Given the description of an element on the screen output the (x, y) to click on. 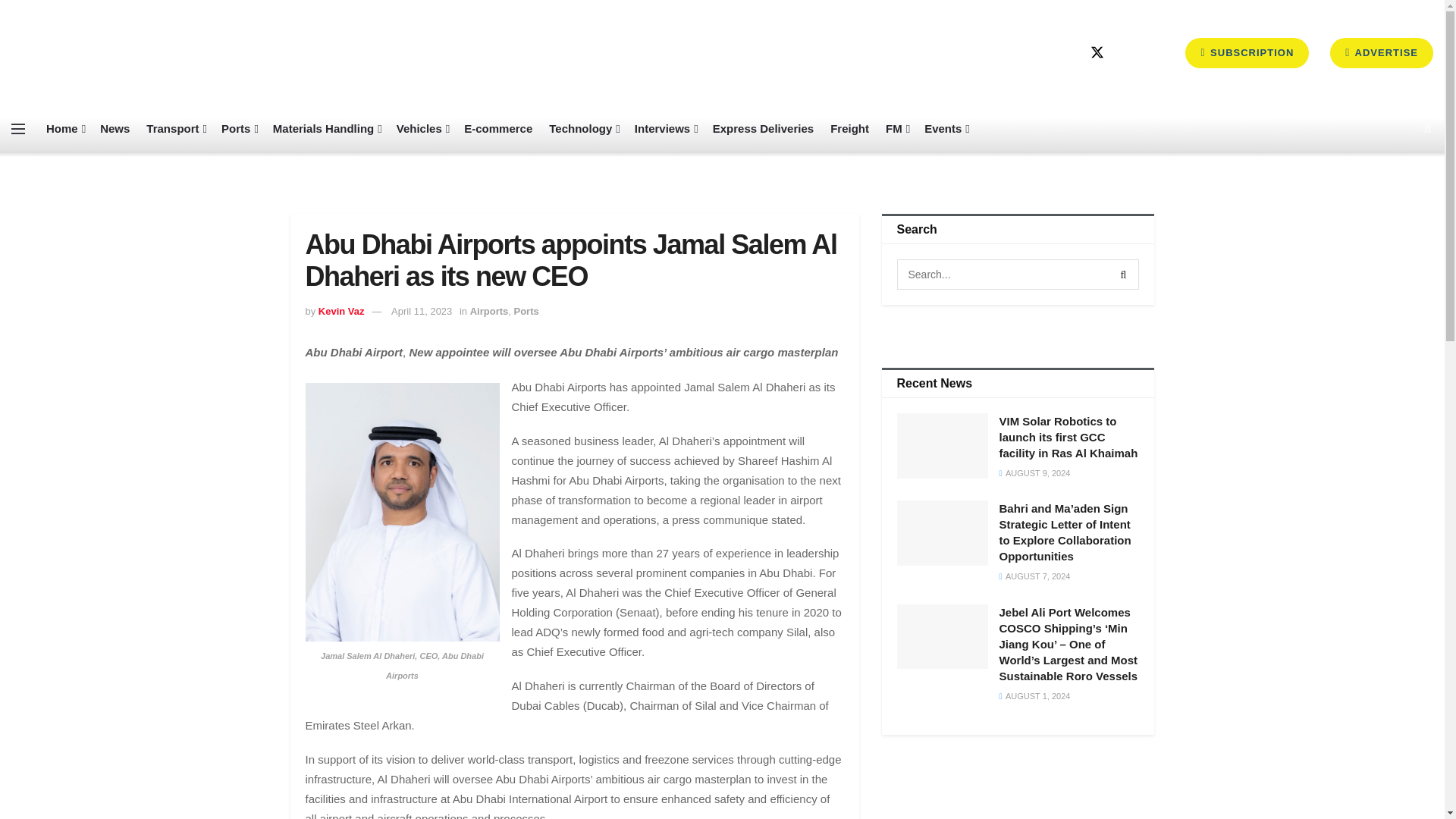
SUBSCRIPTION (1246, 52)
Technology (582, 128)
Express Deliveries (763, 128)
Vehicles (422, 128)
Interviews (664, 128)
Materials Handling (326, 128)
Transport (176, 128)
ADVERTISE (1381, 52)
E-commerce (498, 128)
